Given the description of an element on the screen output the (x, y) to click on. 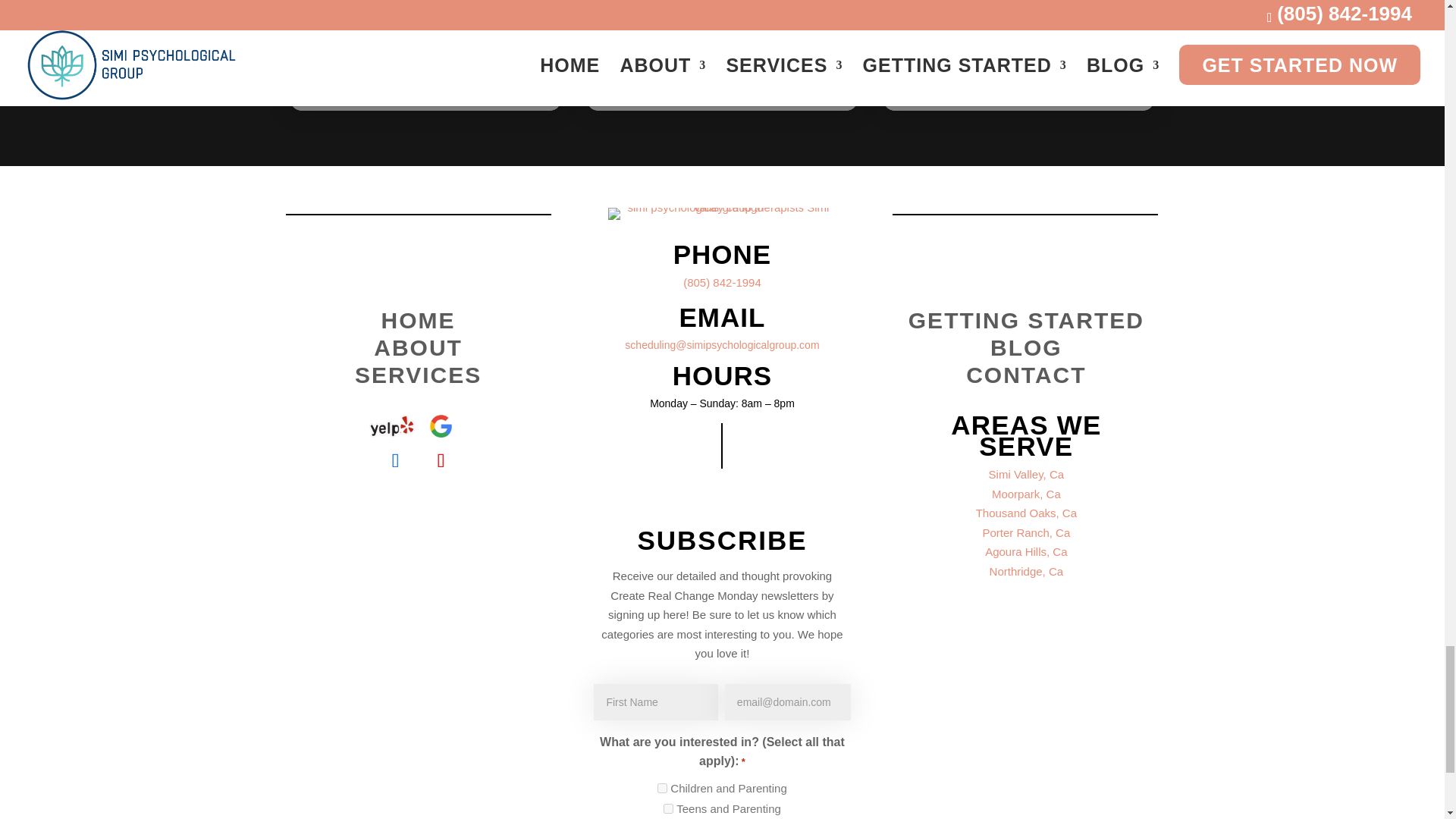
Children and Parenting (662, 787)
Follow on Youtube (441, 460)
simi psychological group Simi Valley therapy (721, 214)
Follow on Facebook (394, 460)
Teens and Parenting (667, 808)
